Given the description of an element on the screen output the (x, y) to click on. 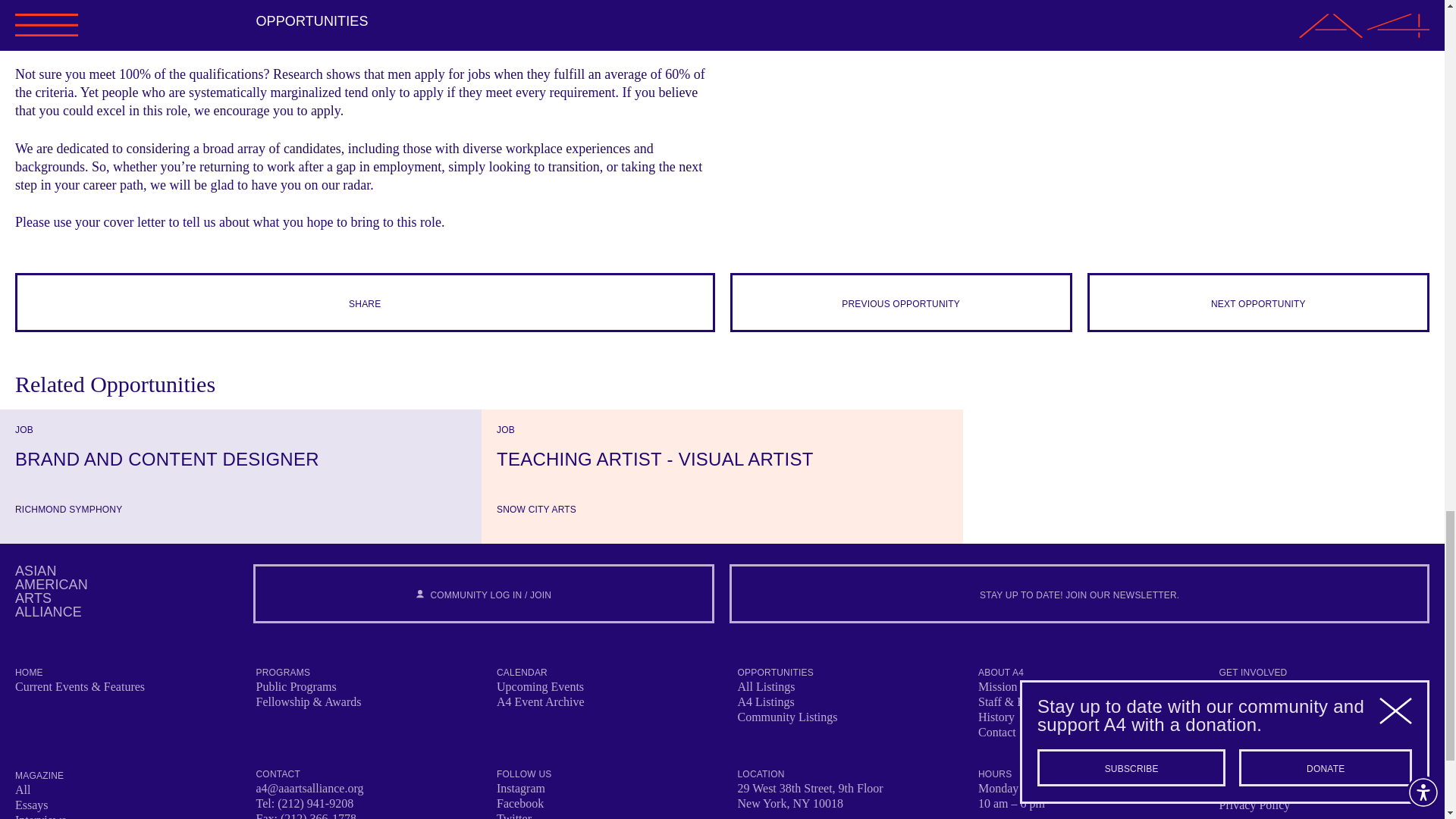
Upcoming Events (539, 686)
Public Programs (296, 686)
A4 Listings (764, 701)
HOME (28, 672)
All Listings (765, 686)
NEXT OPPORTUNITY (1258, 302)
STAY UP TO DATE! JOIN OUR NEWSLETTER. (1079, 593)
PREVIOUS OPPORTUNITY (900, 302)
CALENDAR (521, 672)
TEACHING ARTIST - VISUAL ARTIST (50, 591)
A4 Event Archive (721, 459)
PROGRAMS (540, 701)
BRAND AND CONTENT DESIGNER (283, 672)
OPPORTUNITIES (239, 459)
